Given the description of an element on the screen output the (x, y) to click on. 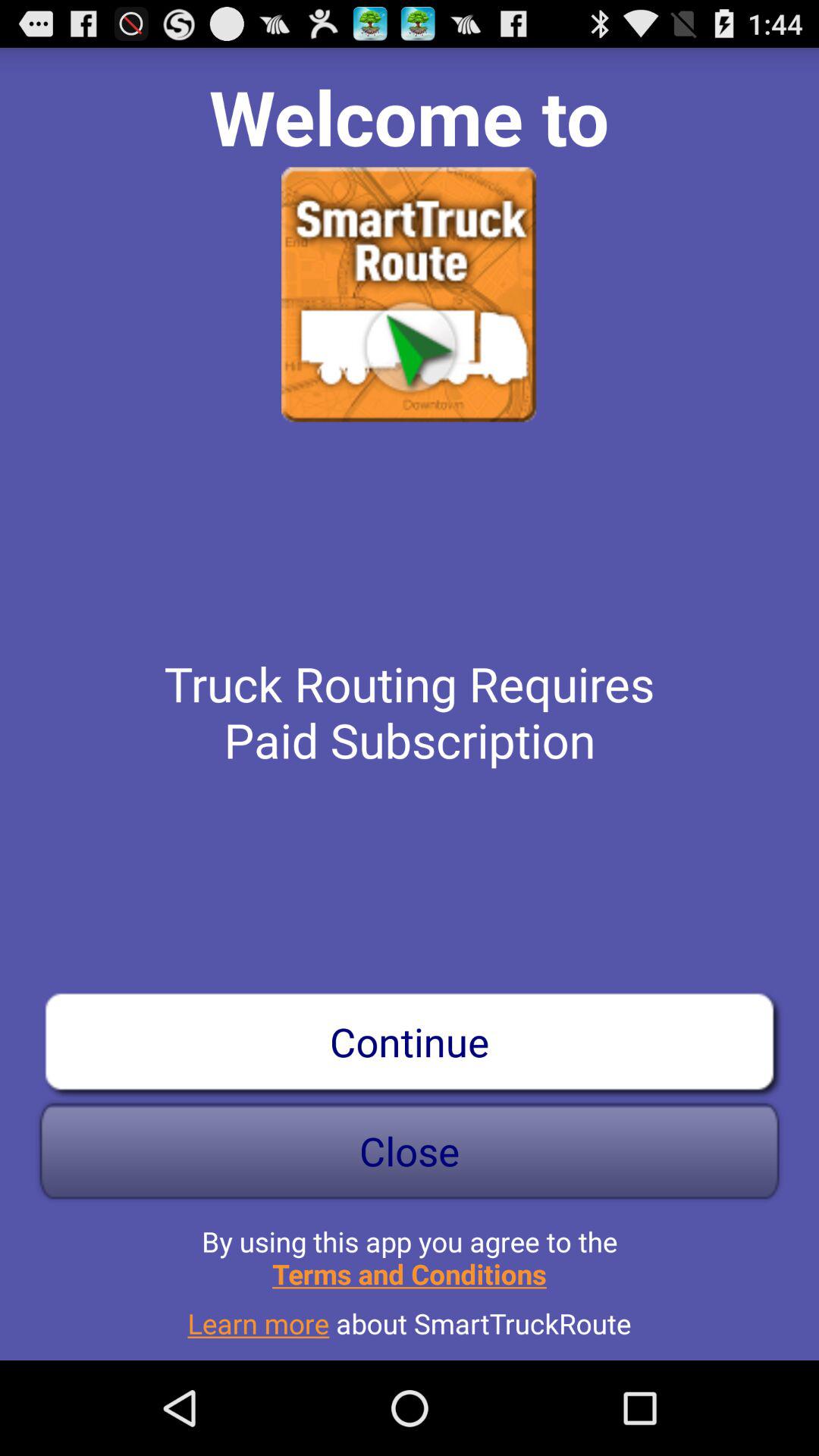
select continue button (409, 1041)
